Given the description of an element on the screen output the (x, y) to click on. 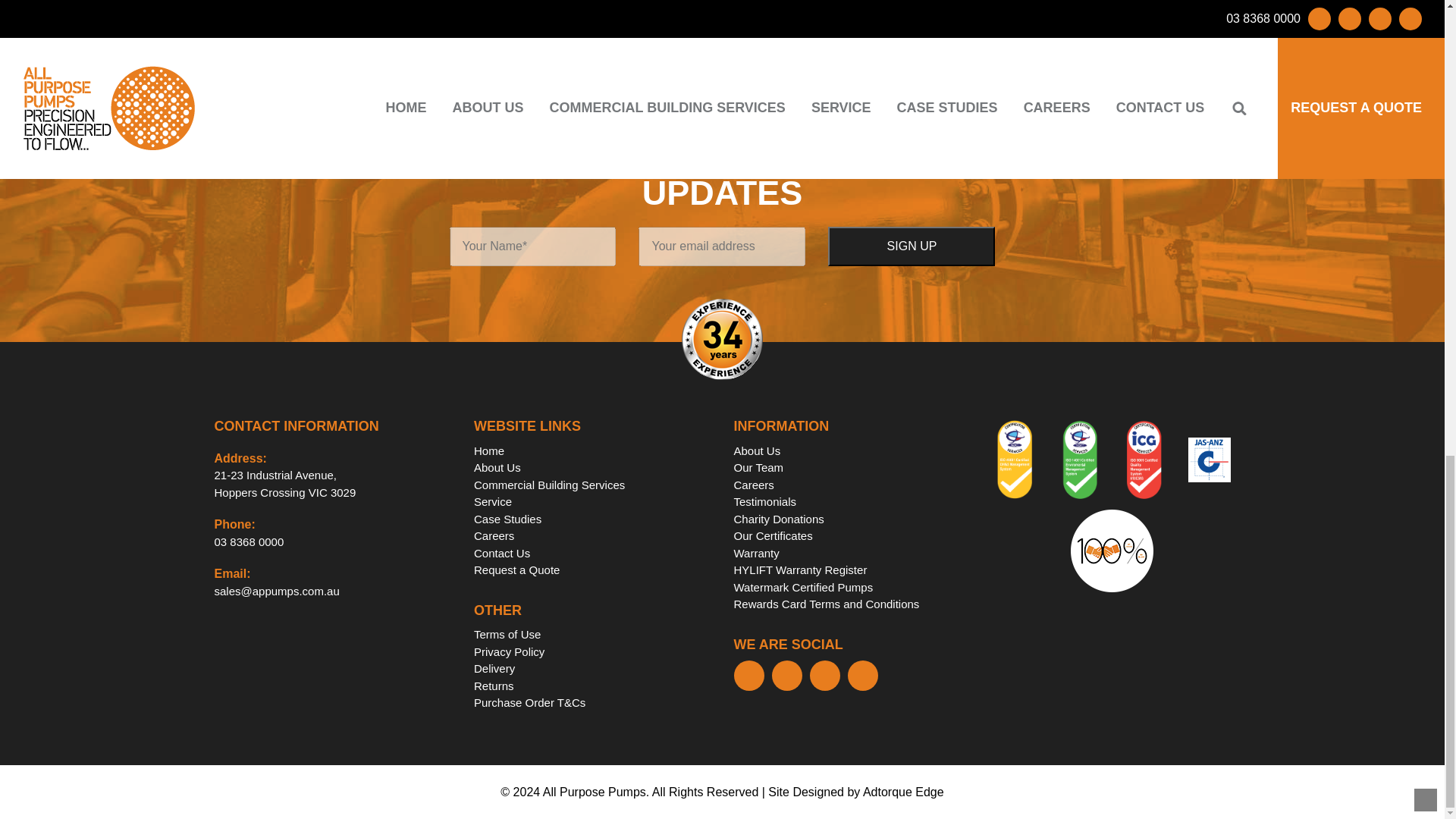
Sign up (911, 246)
About Us (497, 467)
Commercial Building Services (549, 484)
Home (488, 450)
03 8368 0000 (248, 541)
Case Studies (507, 518)
Sign up (911, 246)
Service (284, 483)
